Given the description of an element on the screen output the (x, y) to click on. 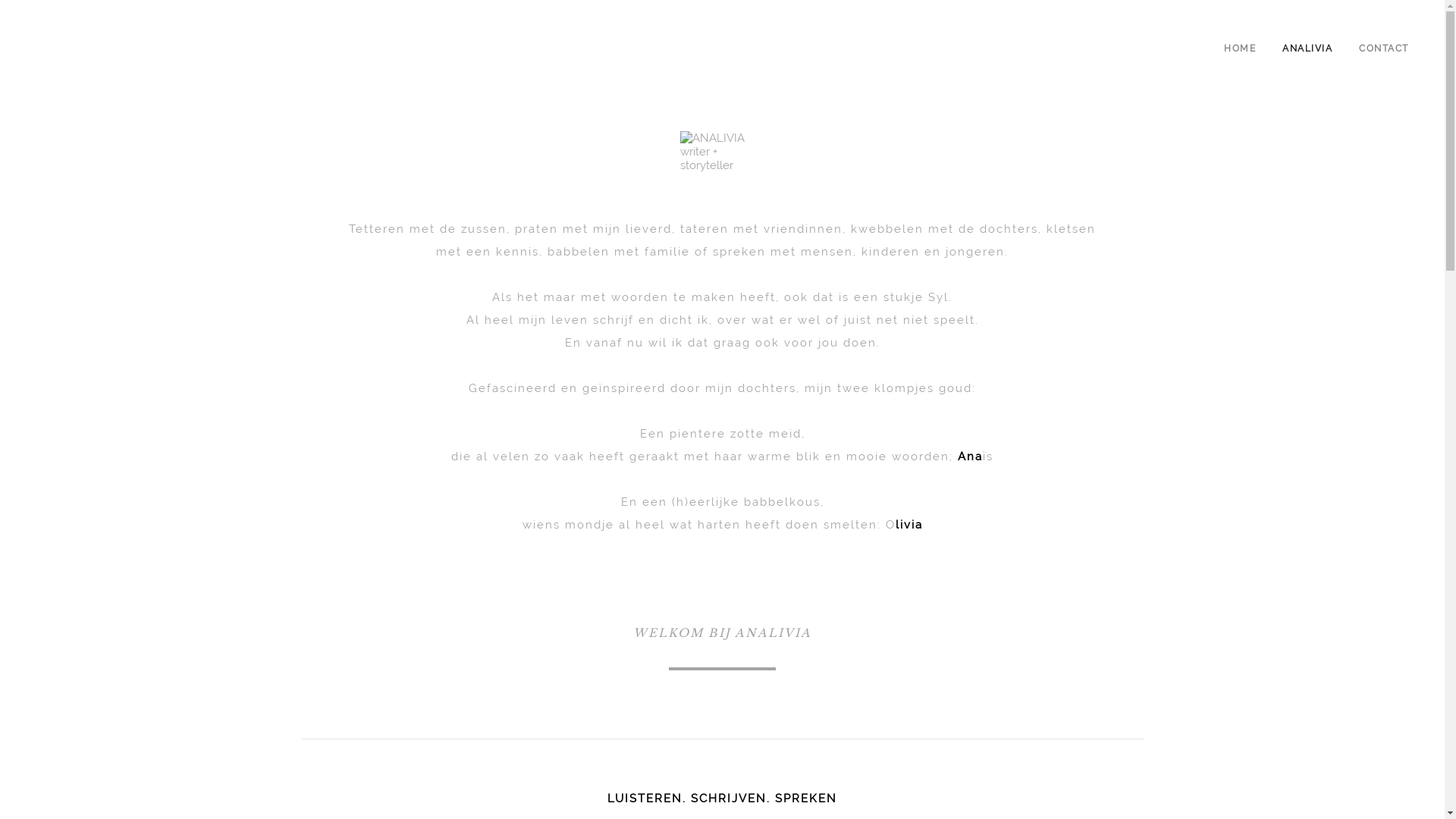
ANALIVIA writer + storyteller Element type: hover (722, 151)
CONTACT Element type: text (1383, 48)
HOME Element type: text (1239, 48)
ANALIVIA Element type: text (1307, 48)
